Given the description of an element on the screen output the (x, y) to click on. 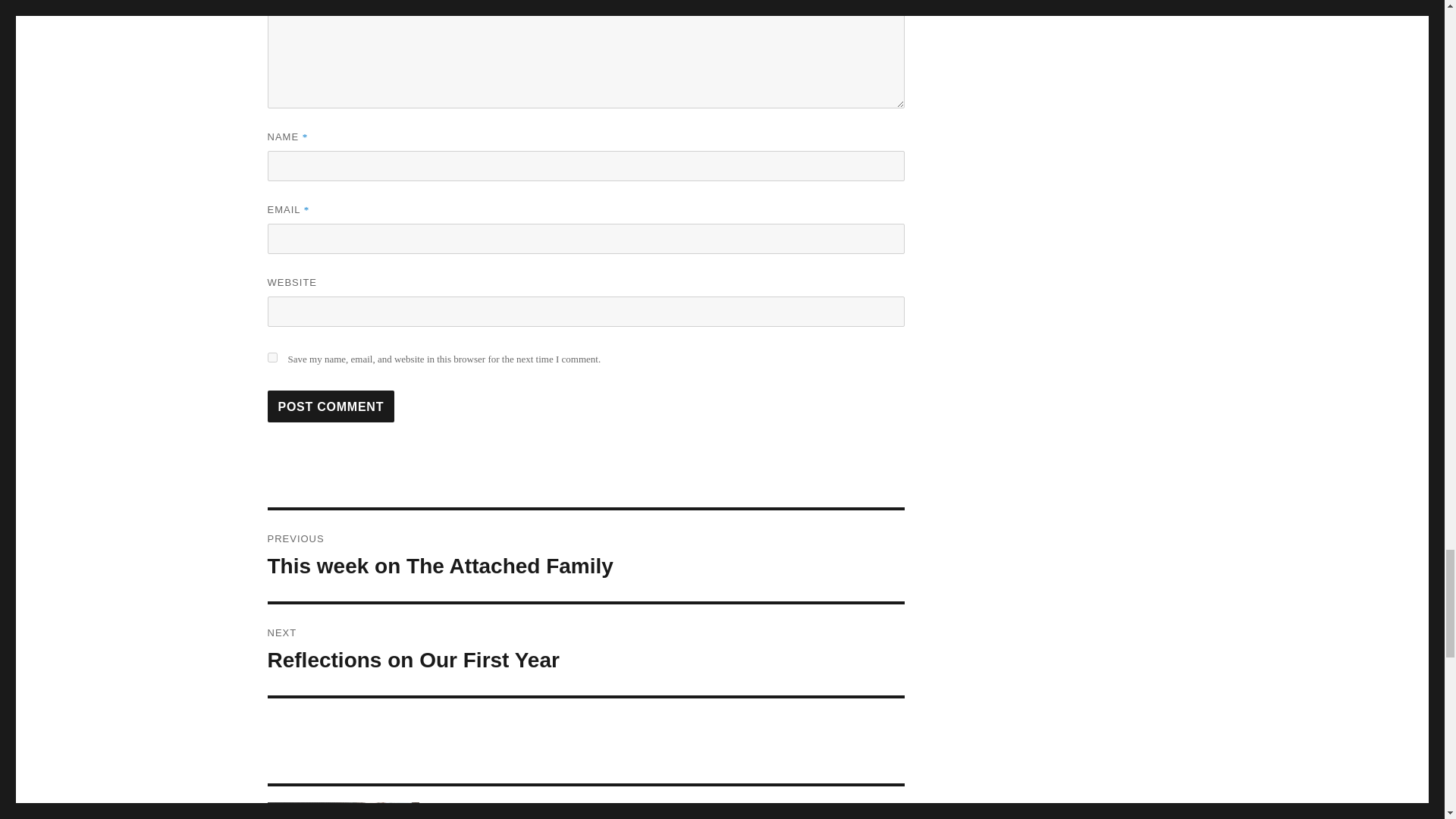
Post Comment (330, 406)
yes (271, 357)
Post Comment (585, 649)
